Given the description of an element on the screen output the (x, y) to click on. 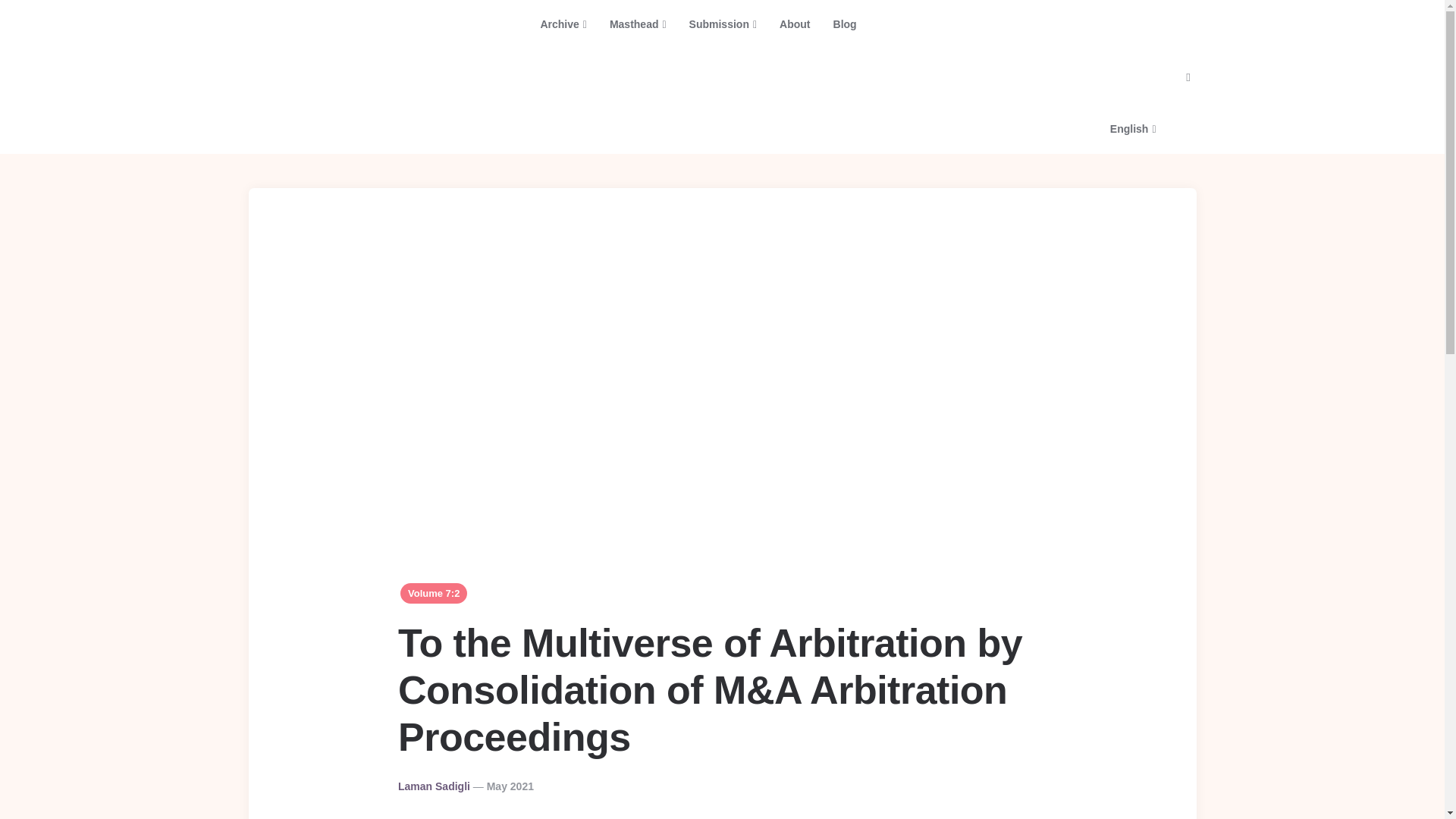
Archive (562, 24)
English (1017, 76)
Masthead (638, 24)
